Given the description of an element on the screen output the (x, y) to click on. 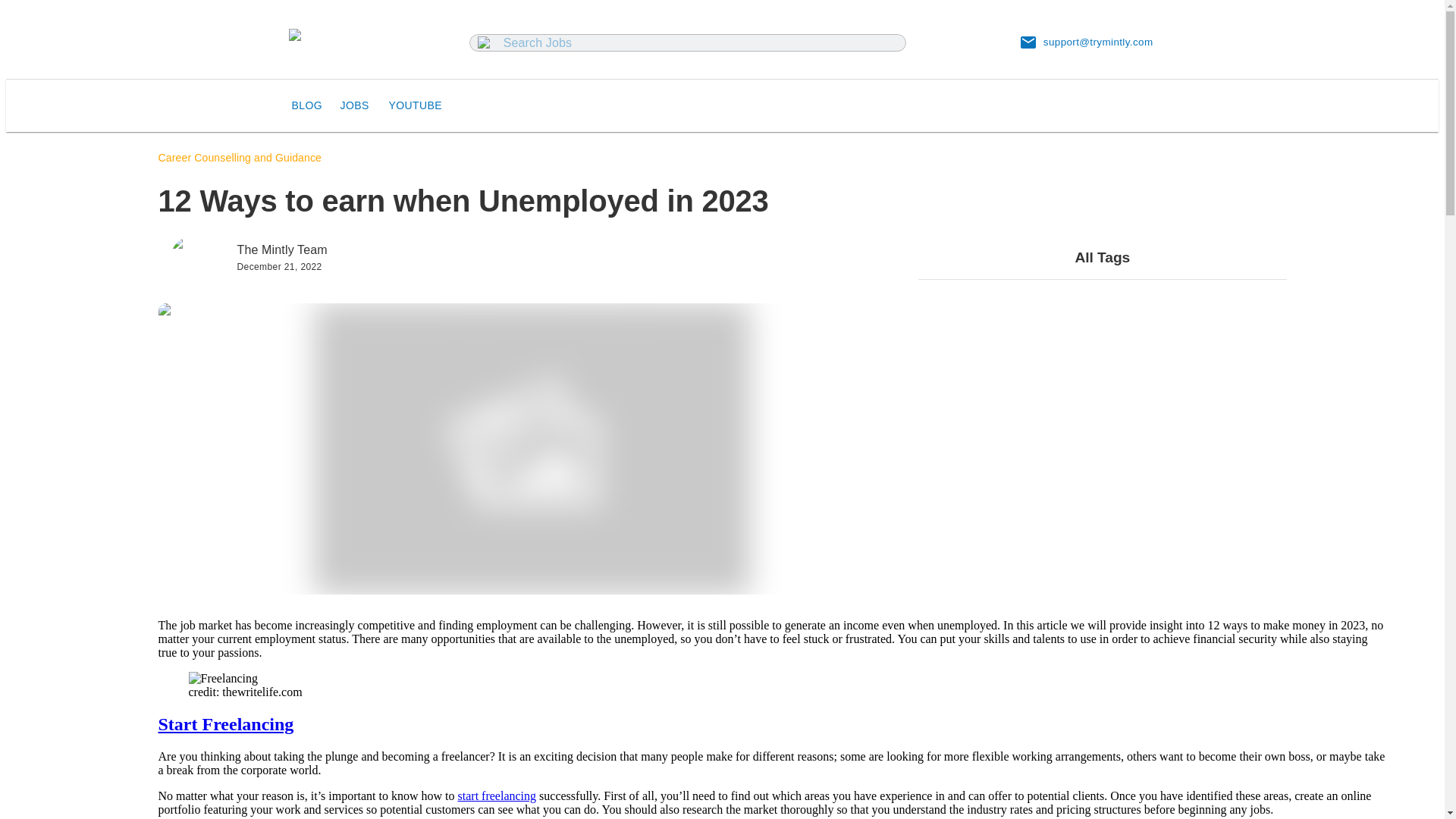
start freelancing (497, 795)
Career Counselling and Guidance (239, 157)
JOBS (357, 105)
The Mintly Team (280, 255)
Start Freelancing (225, 723)
YOUTUBE (413, 105)
BLOG (309, 105)
